Given the description of an element on the screen output the (x, y) to click on. 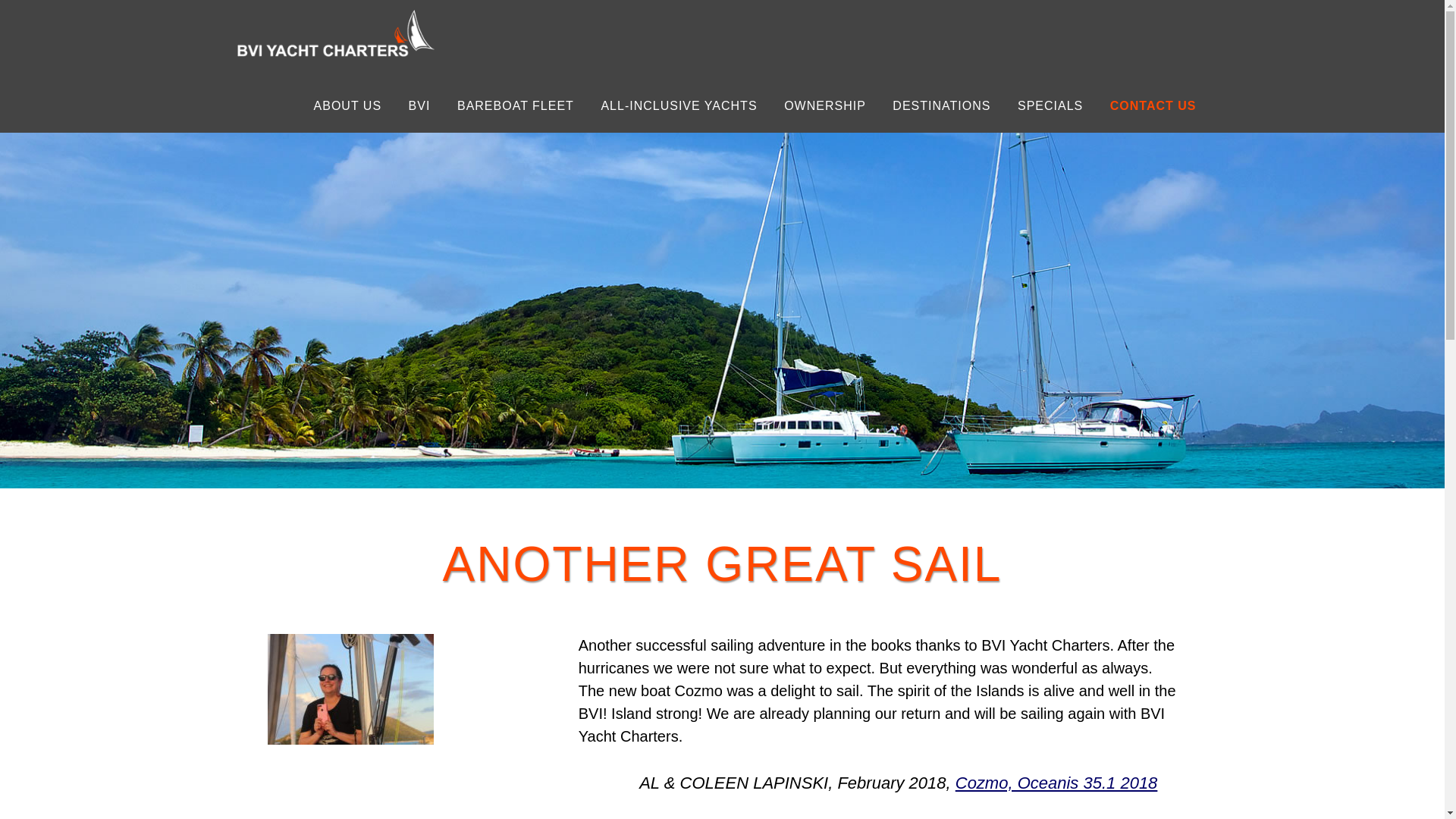
Cozmo, Oceanis 35.1 2018 (1056, 782)
OWNERSHIP (825, 106)
SPECIALS (1050, 106)
ABOUT US (347, 106)
BVI Yacht Charters (334, 32)
What you need to know BVI Yacht Charters (347, 106)
DESTINATIONS (940, 106)
BVI Yacht Charters Bareboat Yacht Fleet (515, 106)
ALL-INCLUSIVE YACHTS (678, 106)
BVI Yacht Charters (334, 57)
